Given the description of an element on the screen output the (x, y) to click on. 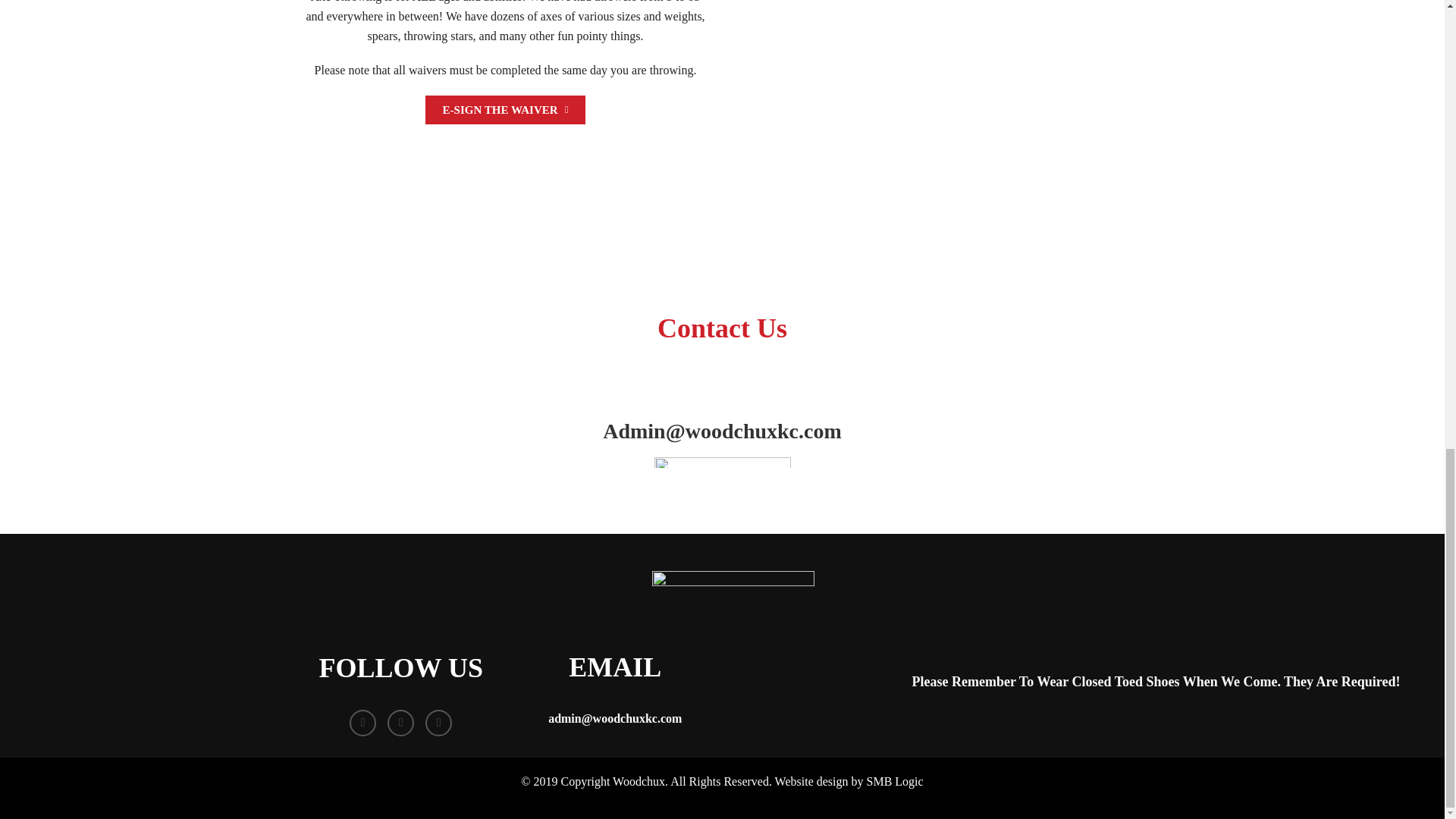
Instagram (438, 723)
Twitter (400, 723)
separators (721, 462)
SMB Logic (894, 780)
Facebook (362, 723)
E-SIGN THE WAIVER (505, 109)
